Given the description of an element on the screen output the (x, y) to click on. 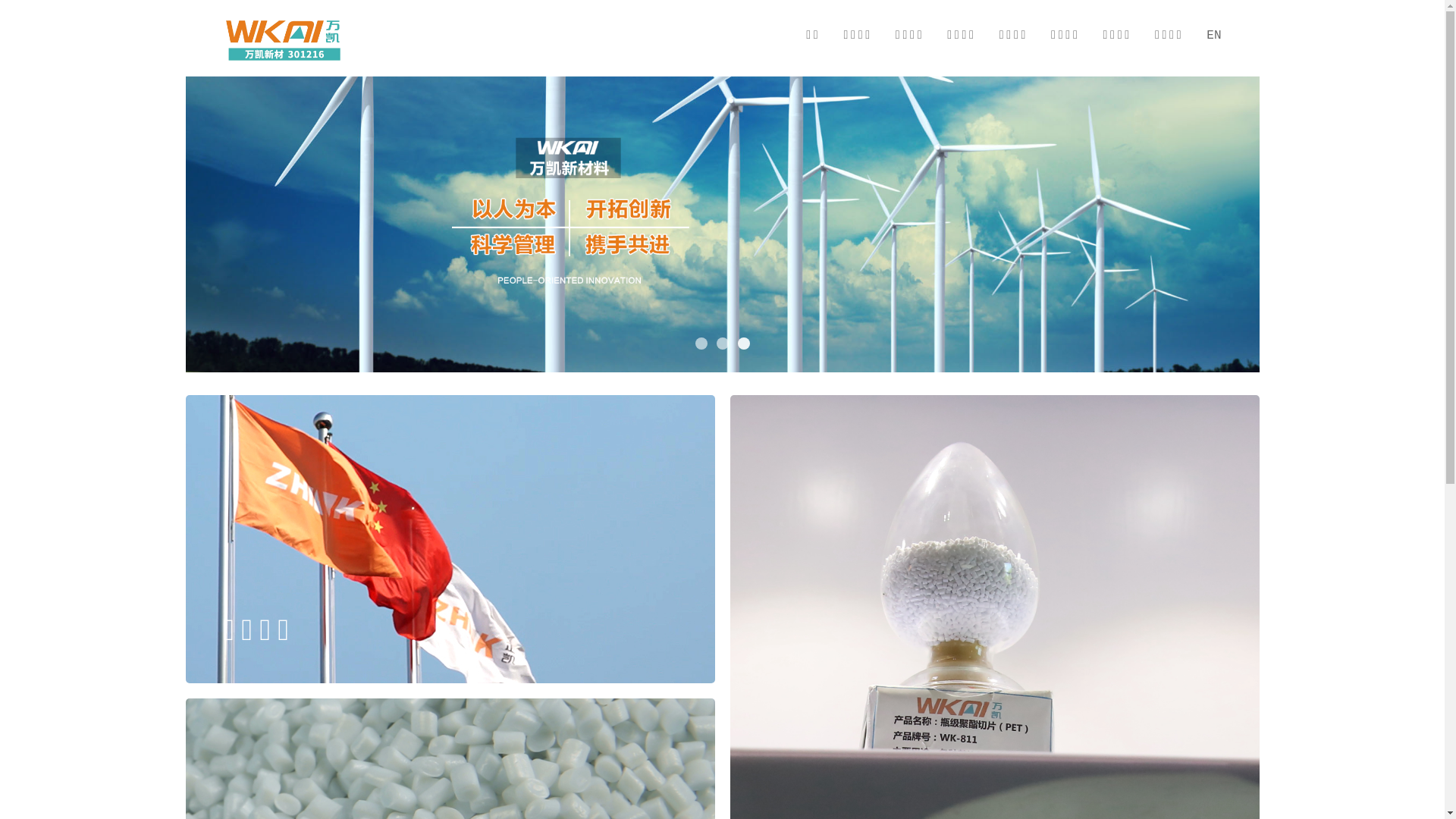
3 Element type: text (743, 343)
1 Element type: text (700, 343)
2 Element type: text (721, 343)
EN Element type: text (1213, 35)
